Given the description of an element on the screen output the (x, y) to click on. 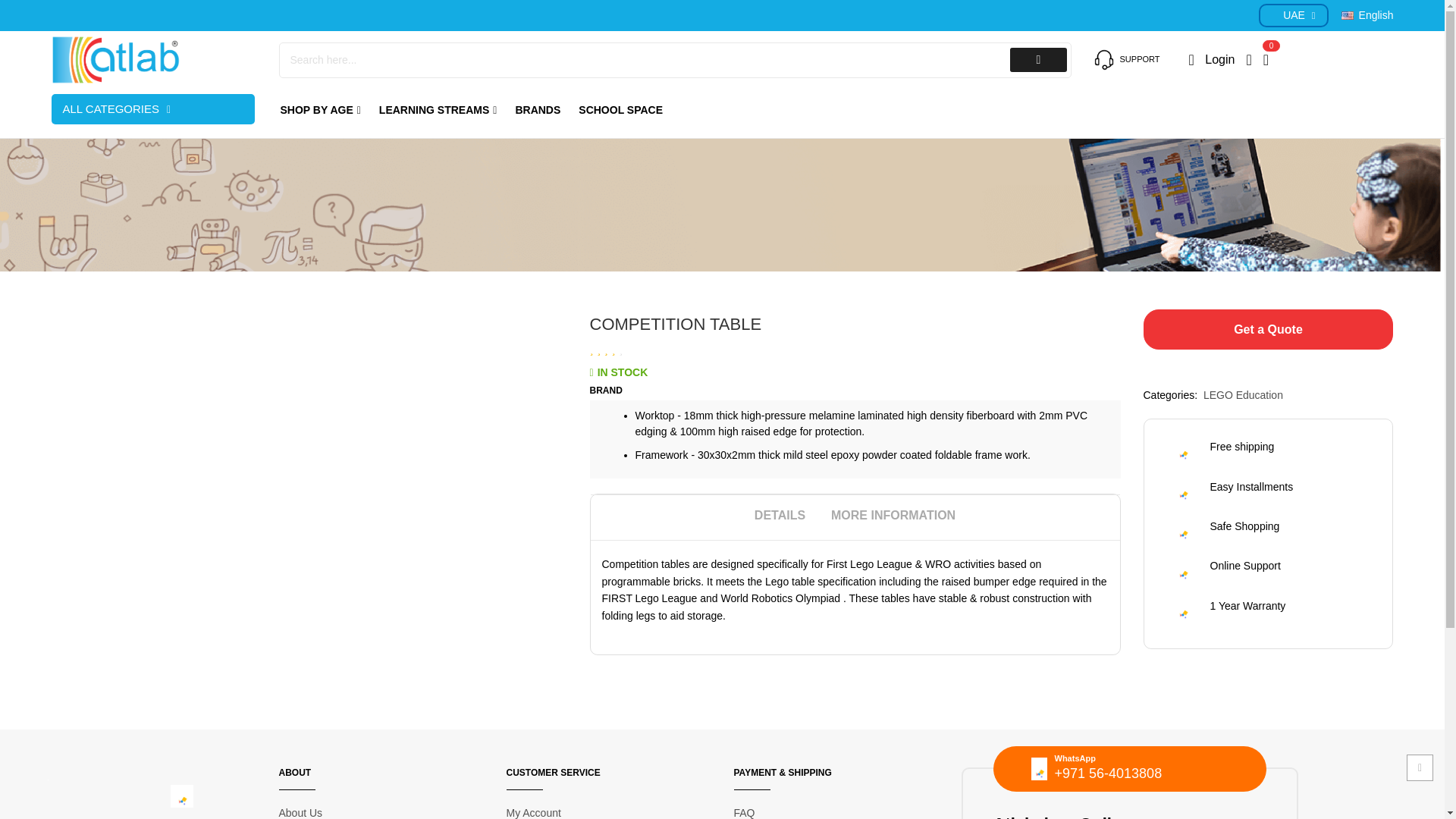
Search (1038, 59)
Atlab Shoponline (115, 60)
Atlab Shoponline (153, 60)
Availability (618, 372)
